Given the description of an element on the screen output the (x, y) to click on. 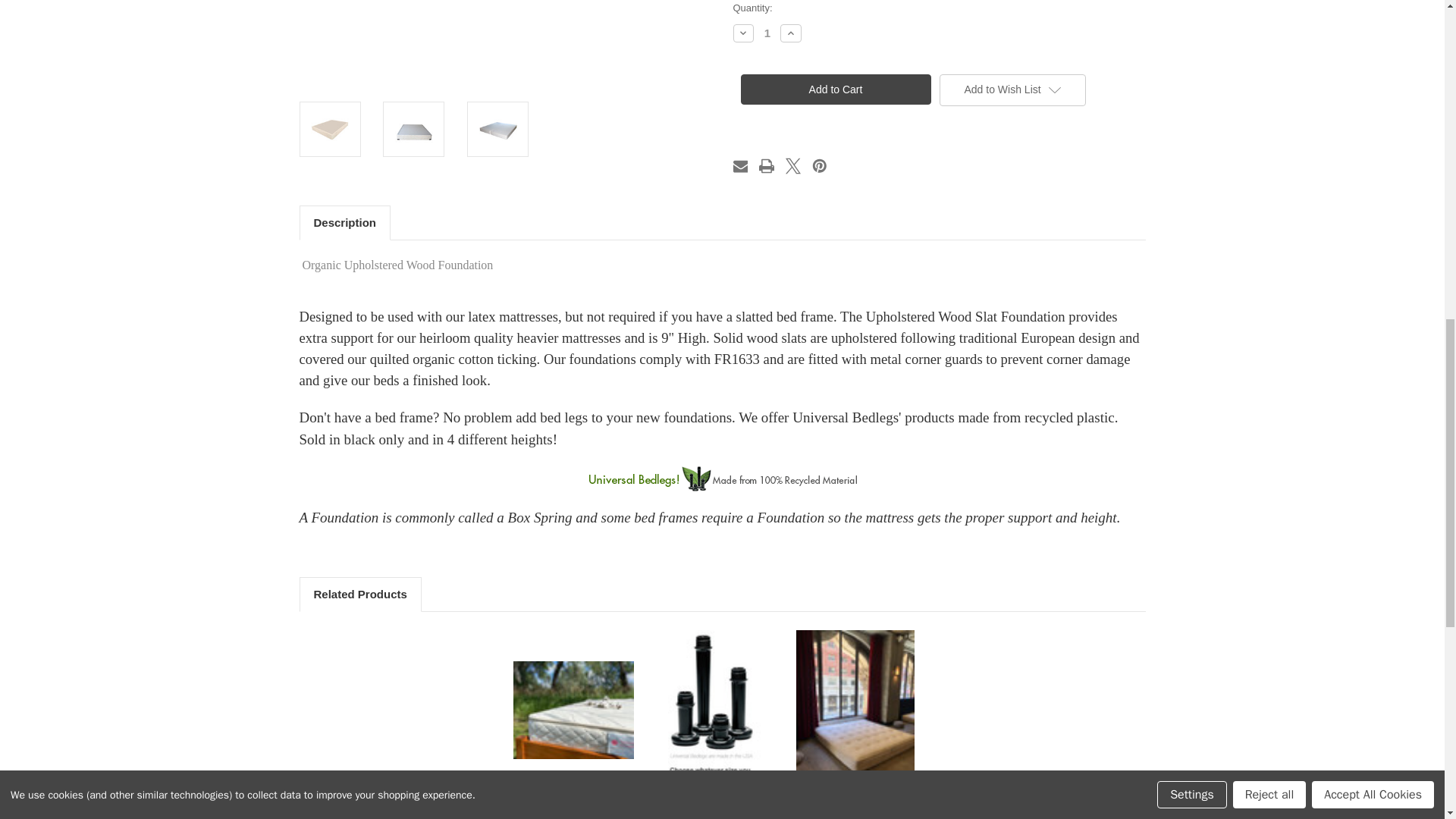
Print (766, 165)
Upholstered Wood Slat Foundation  (330, 129)
Upholstered Wood Slat Foundation  (504, 44)
Upholstered Wood Slat Foundation  (497, 129)
Upholstered Wood Slat Foundation  (413, 129)
X (793, 165)
Pinterest (819, 165)
Email (740, 165)
Add to Cart (834, 89)
Suite Essentials Mattress (572, 709)
Universal Bedlegs Made from Recycle Materials (713, 709)
Ace Hotel Mattress (854, 709)
1 (767, 32)
